Given the description of an element on the screen output the (x, y) to click on. 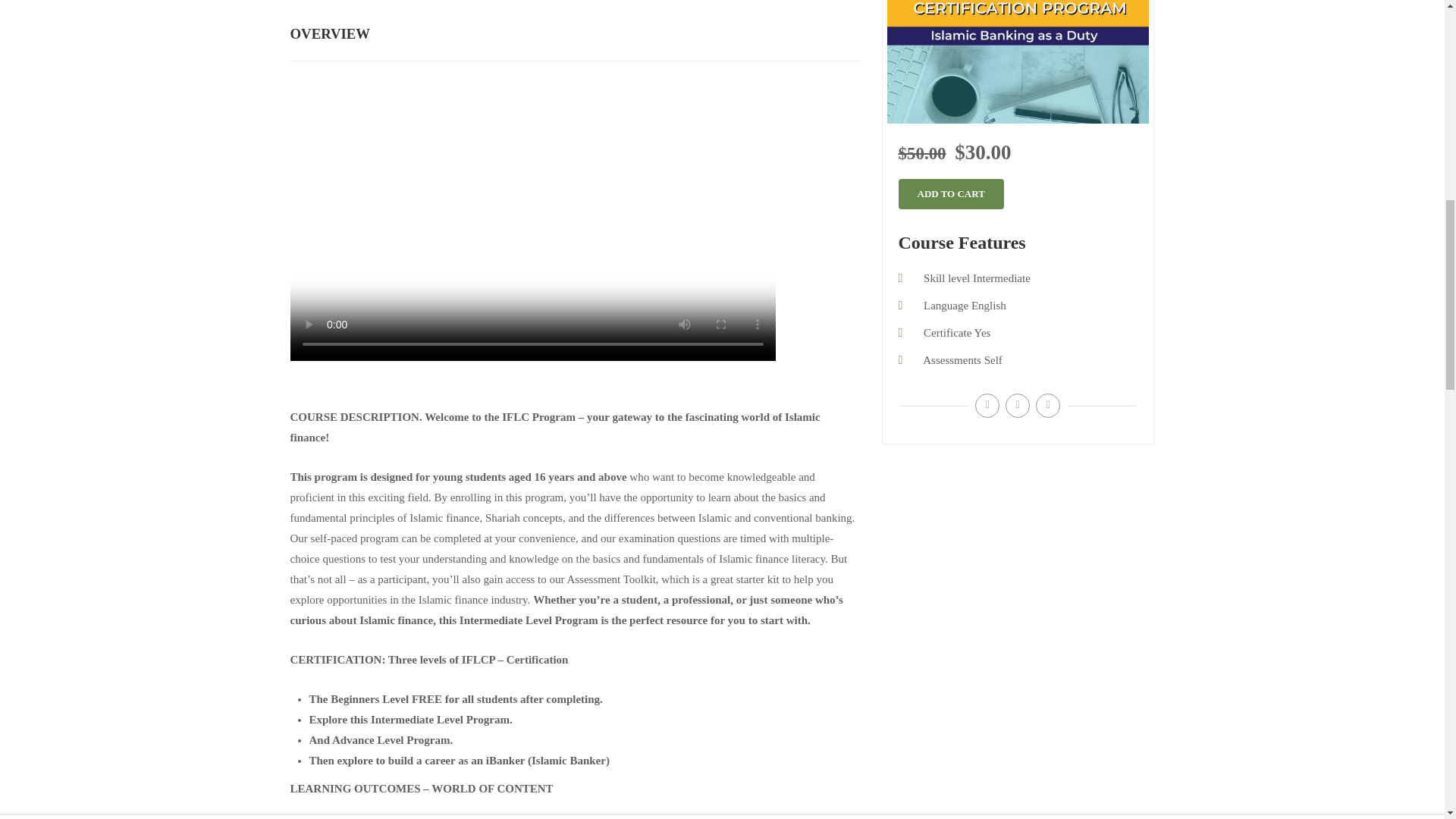
WhatsApp Image 2023-08-17 at 09.127.02 (1018, 61)
Curriculum (377, 19)
Reviews (506, 19)
Overview (309, 19)
Facebook (986, 404)
ADD TO CART (1101, 19)
Instructor (446, 19)
Twitter (1017, 404)
